Given the description of an element on the screen output the (x, y) to click on. 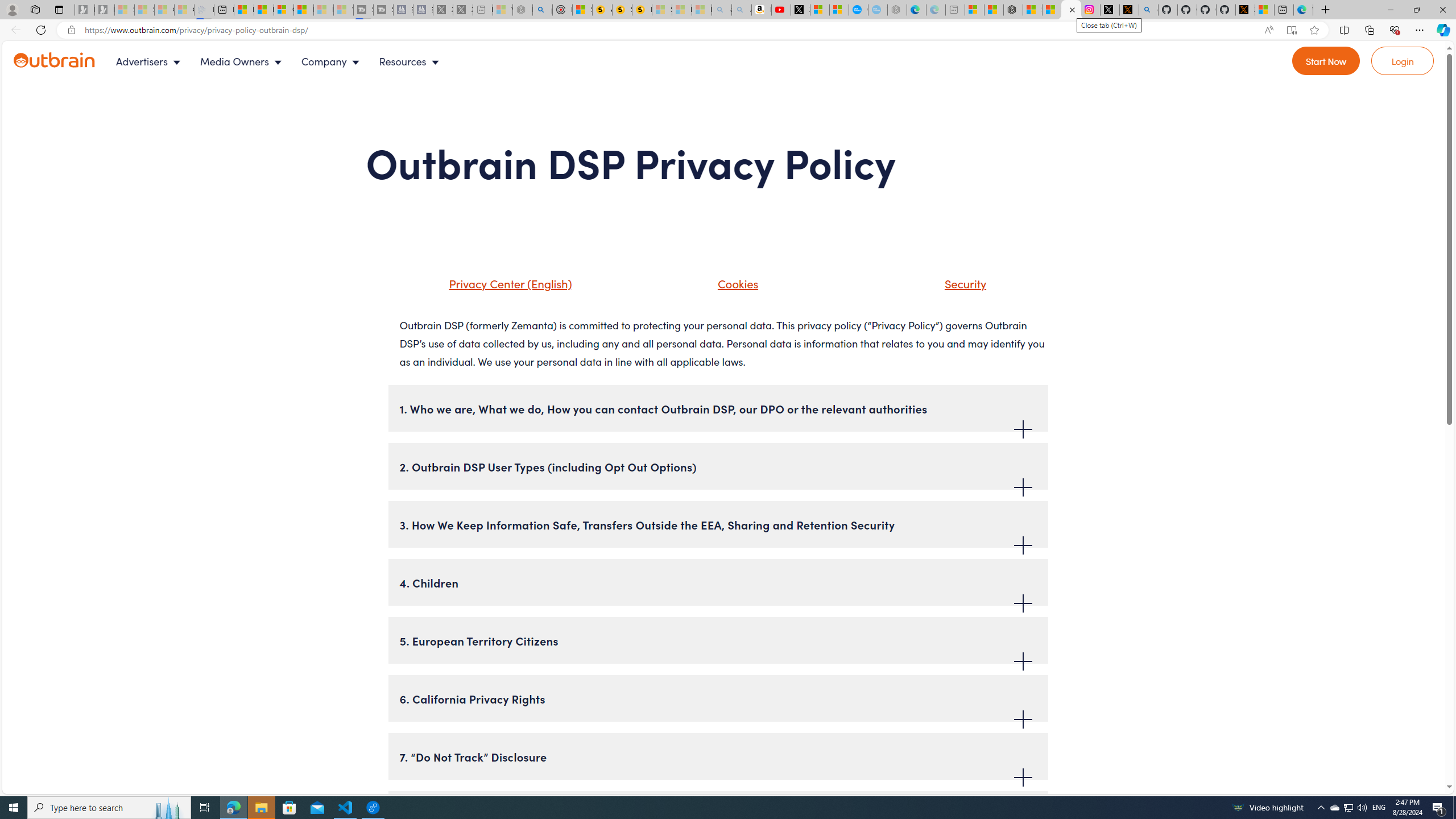
Outbrain logo - link to homepage (54, 59)
4. Children (717, 582)
amazon - Search - Sleeping (721, 9)
Opinion: Op-Ed and Commentary - USA TODAY (858, 9)
Skip navigation to go to main content (34, 46)
